Given the description of an element on the screen output the (x, y) to click on. 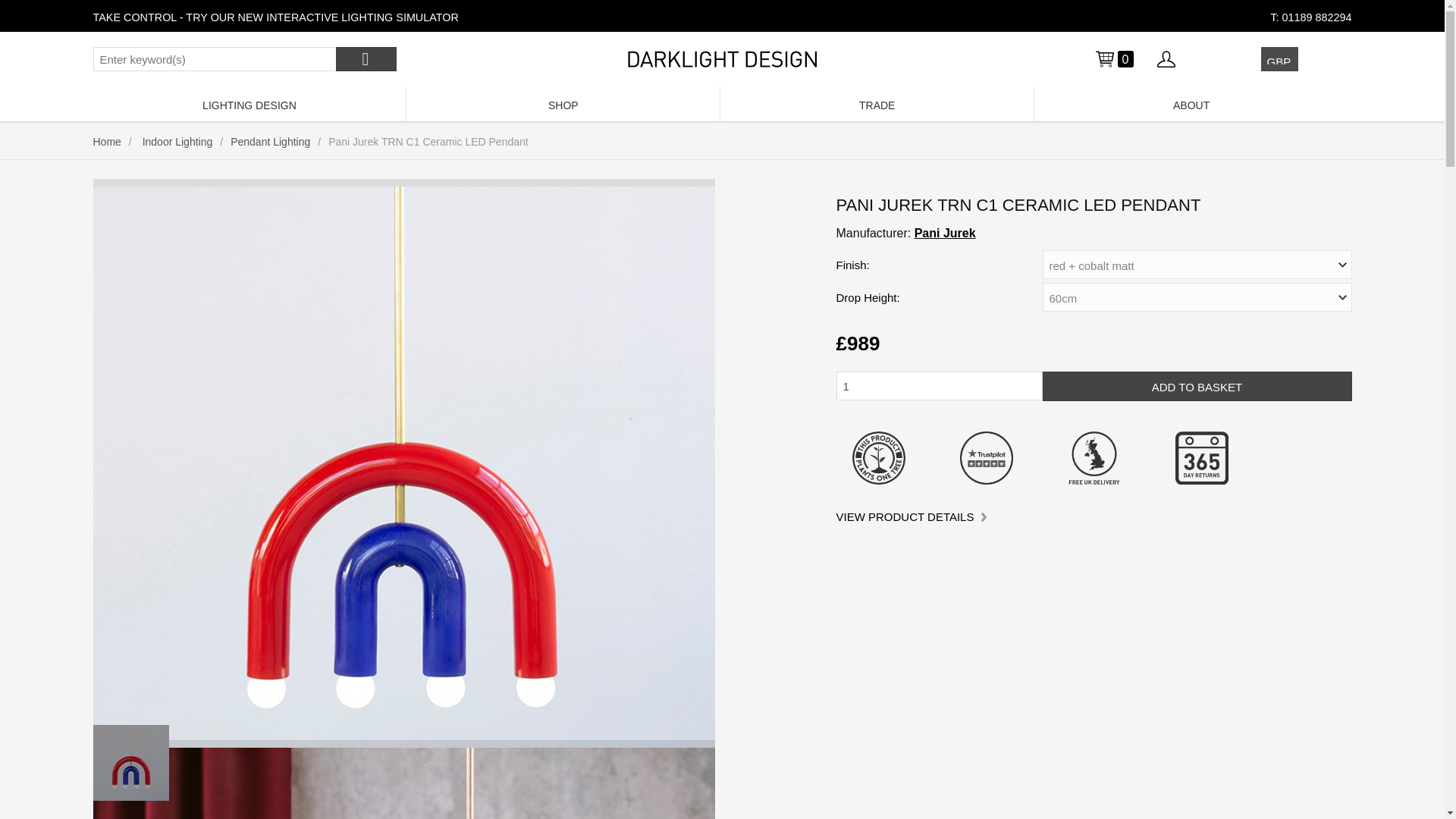
Add to basket (1196, 386)
LIGHTING DESIGN (249, 103)
TAKE CONTROL - TRY OUR NEW INTERACTIVE LIGHTING SIMULATOR (275, 17)
1 (938, 385)
0 (1113, 58)
SHOP (563, 103)
01189 882294 (1316, 17)
